Given the description of an element on the screen output the (x, y) to click on. 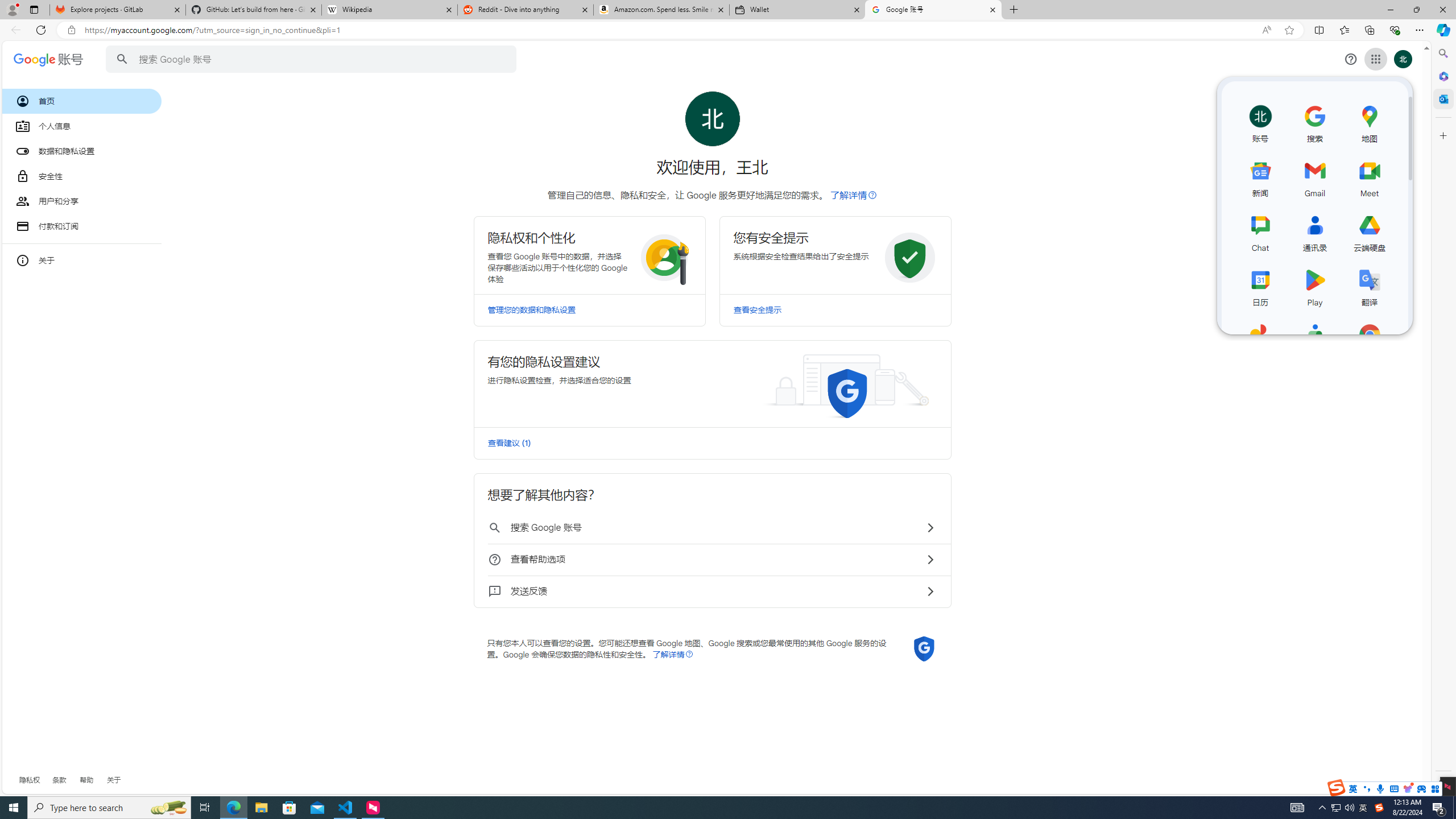
Amazon.com. Spend less. Smile more. (660, 9)
